Given the description of an element on the screen output the (x, y) to click on. 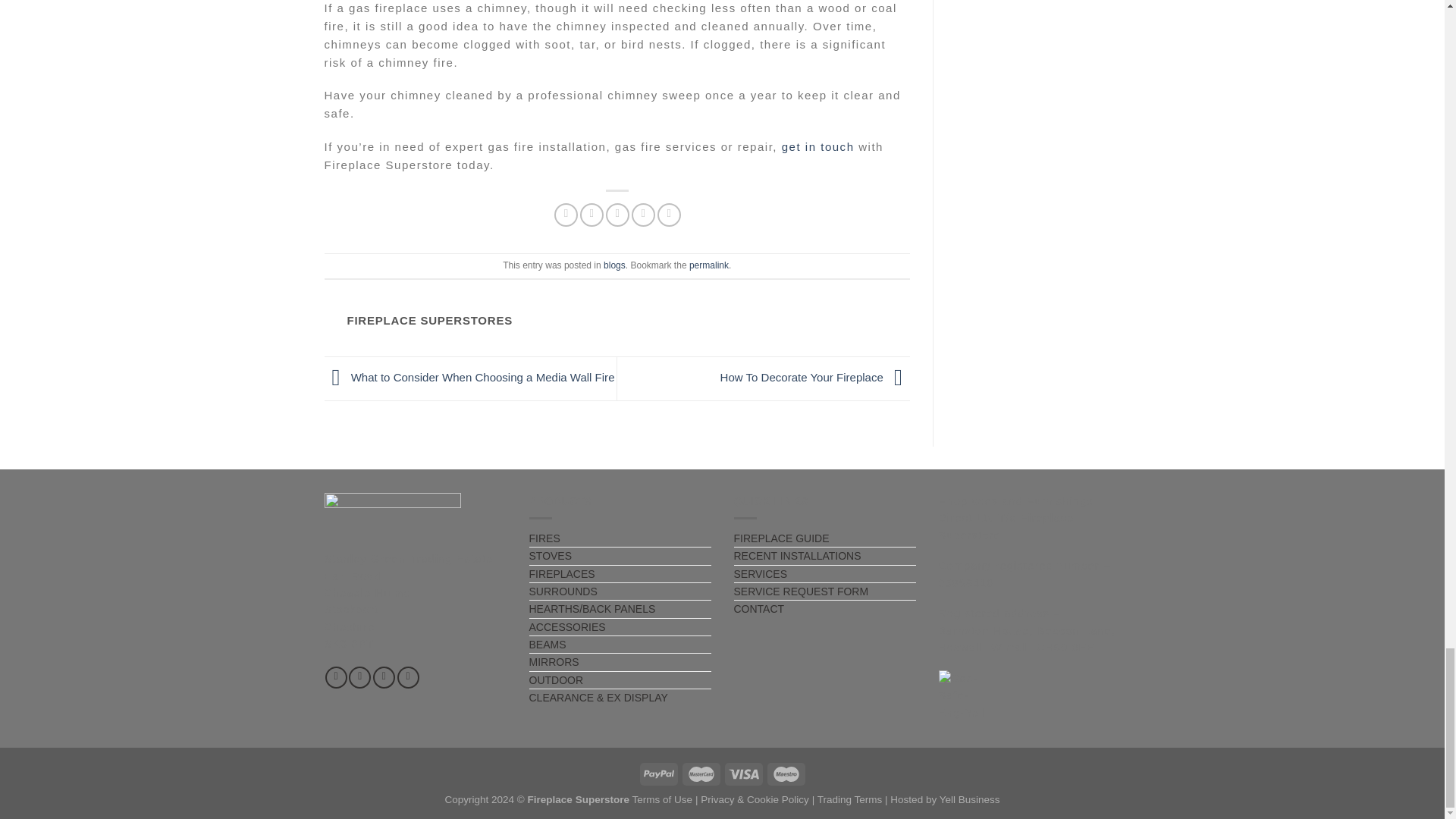
Share on LinkedIn (669, 214)
Email to a Friend (616, 214)
Share on Twitter (591, 214)
Pin on Pinterest (643, 214)
Share on Facebook (566, 214)
